Given the description of an element on the screen output the (x, y) to click on. 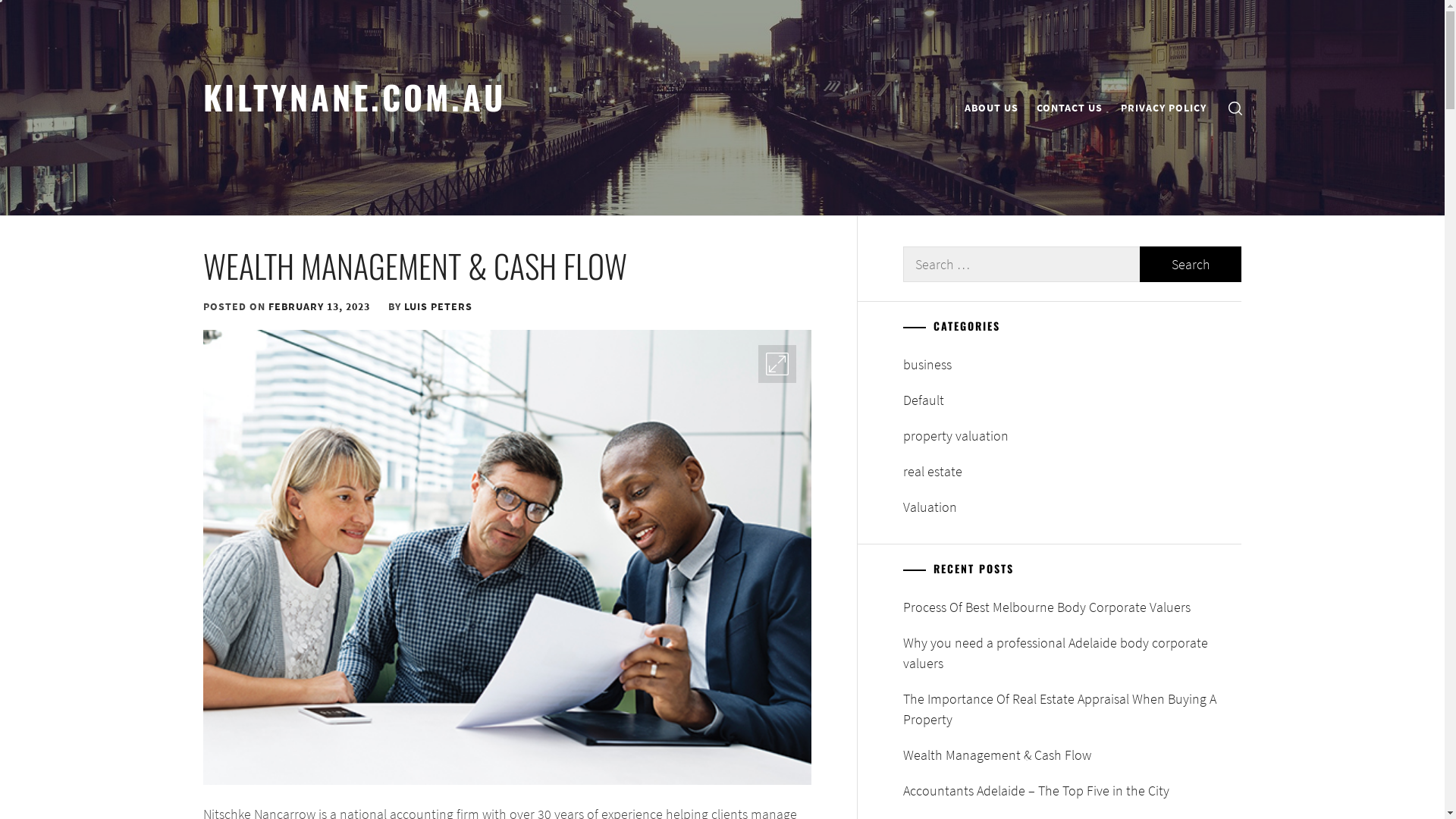
KILTYNANE.COM.AU Element type: text (354, 96)
Why you need a professional Adelaide body corporate valuers Element type: text (1072, 652)
property valuation Element type: text (955, 435)
Process Of Best Melbourne Body Corporate Valuers Element type: text (1072, 606)
LUIS PETERS Element type: text (437, 306)
WEALTH MANAGEMENT & CASH FLOW Element type: text (415, 264)
Search Element type: text (1190, 264)
Default Element type: text (923, 399)
business Element type: text (927, 364)
Valuation Element type: text (930, 506)
FEBRUARY 13, 2023 Element type: text (319, 306)
Search Element type: text (797, 409)
PRIVACY POLICY Element type: text (1163, 107)
Wealth Management & Cash Flow Element type: text (1072, 754)
real estate Element type: text (932, 471)
CONTACT US Element type: text (1068, 107)
ABOUT US Element type: text (991, 107)
